Given the description of an element on the screen output the (x, y) to click on. 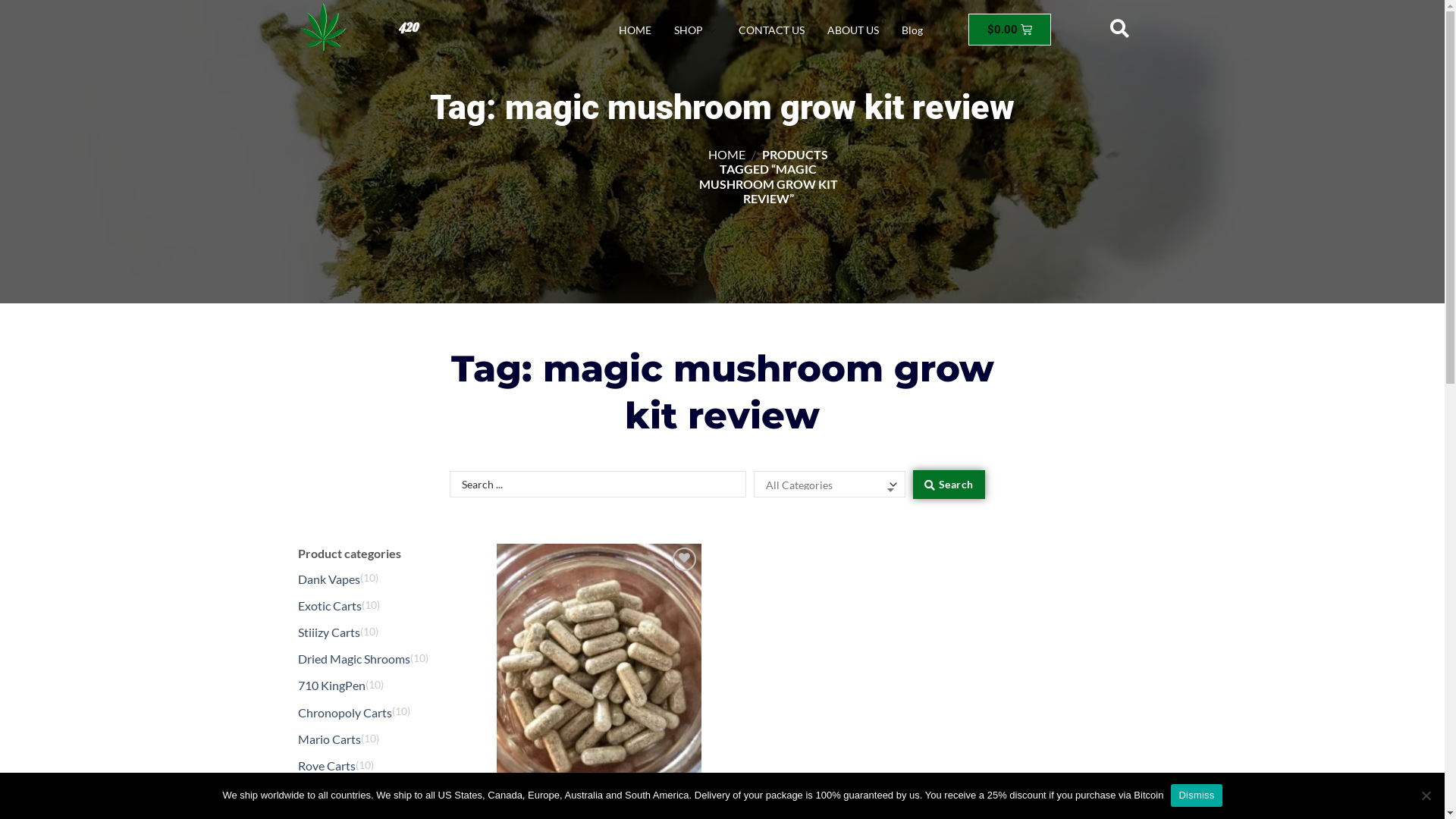
Brass knuckles Element type: text (335, 792)
SHOP Element type: text (694, 30)
Dried Magic Shrooms Element type: text (353, 658)
Mario Carts Element type: text (328, 739)
HOME Element type: text (726, 154)
Stiiizy Carts Element type: text (328, 632)
CONTACT US Element type: text (771, 30)
HOME Element type: text (634, 30)
Blog Element type: text (912, 30)
Rove Carts Element type: text (325, 765)
Chronopoly Carts Element type: text (344, 711)
Dank Vapes Element type: text (328, 579)
Dismiss Element type: text (1195, 795)
ABOUT US Element type: text (852, 30)
Exotic Carts Element type: text (328, 605)
$0.00 Element type: text (1009, 29)
420 Element type: text (411, 23)
Search Element type: text (949, 484)
710 KingPen Element type: text (330, 685)
